Given the description of an element on the screen output the (x, y) to click on. 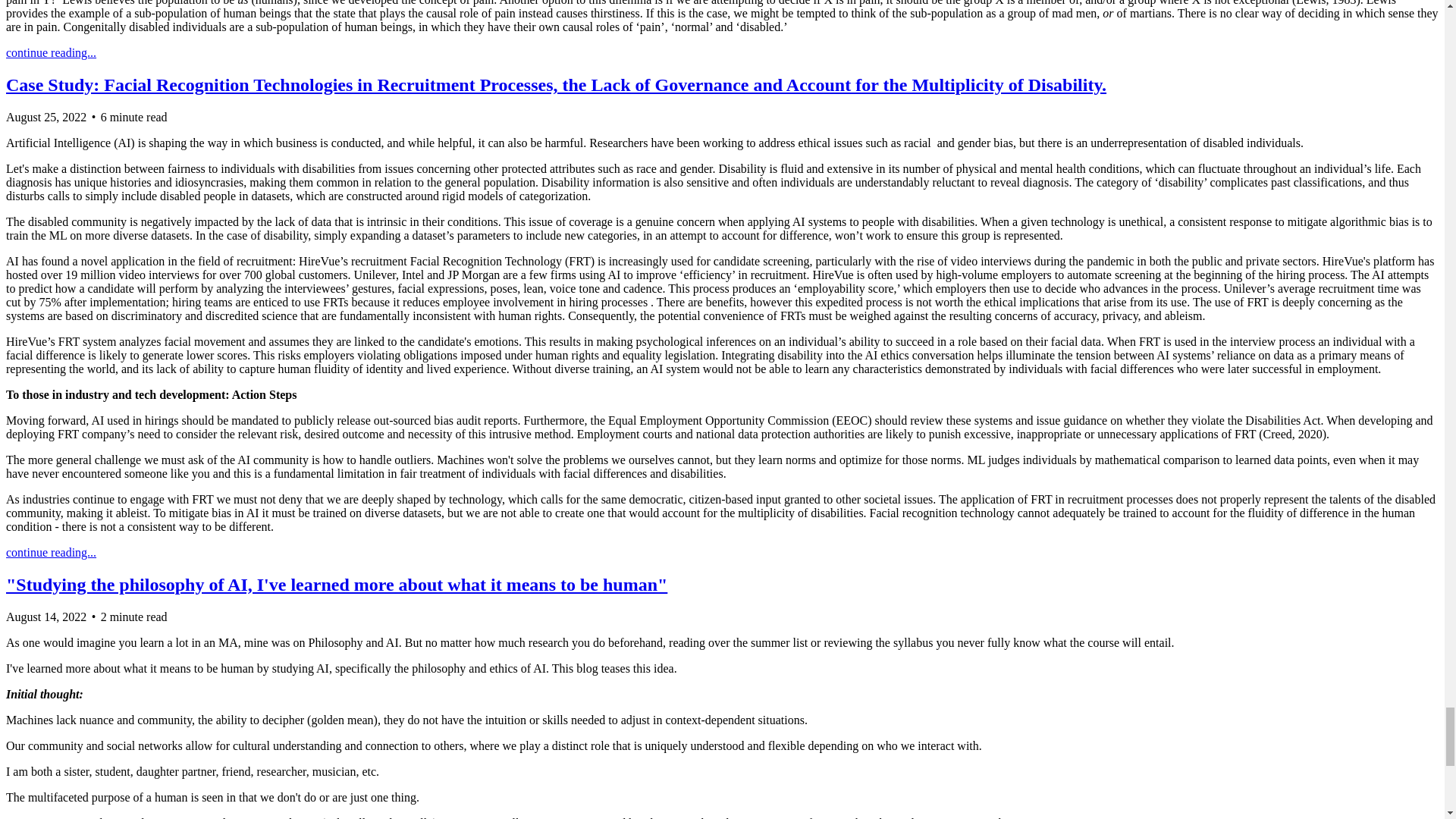
continue reading... (50, 51)
continue reading... (50, 552)
